Given the description of an element on the screen output the (x, y) to click on. 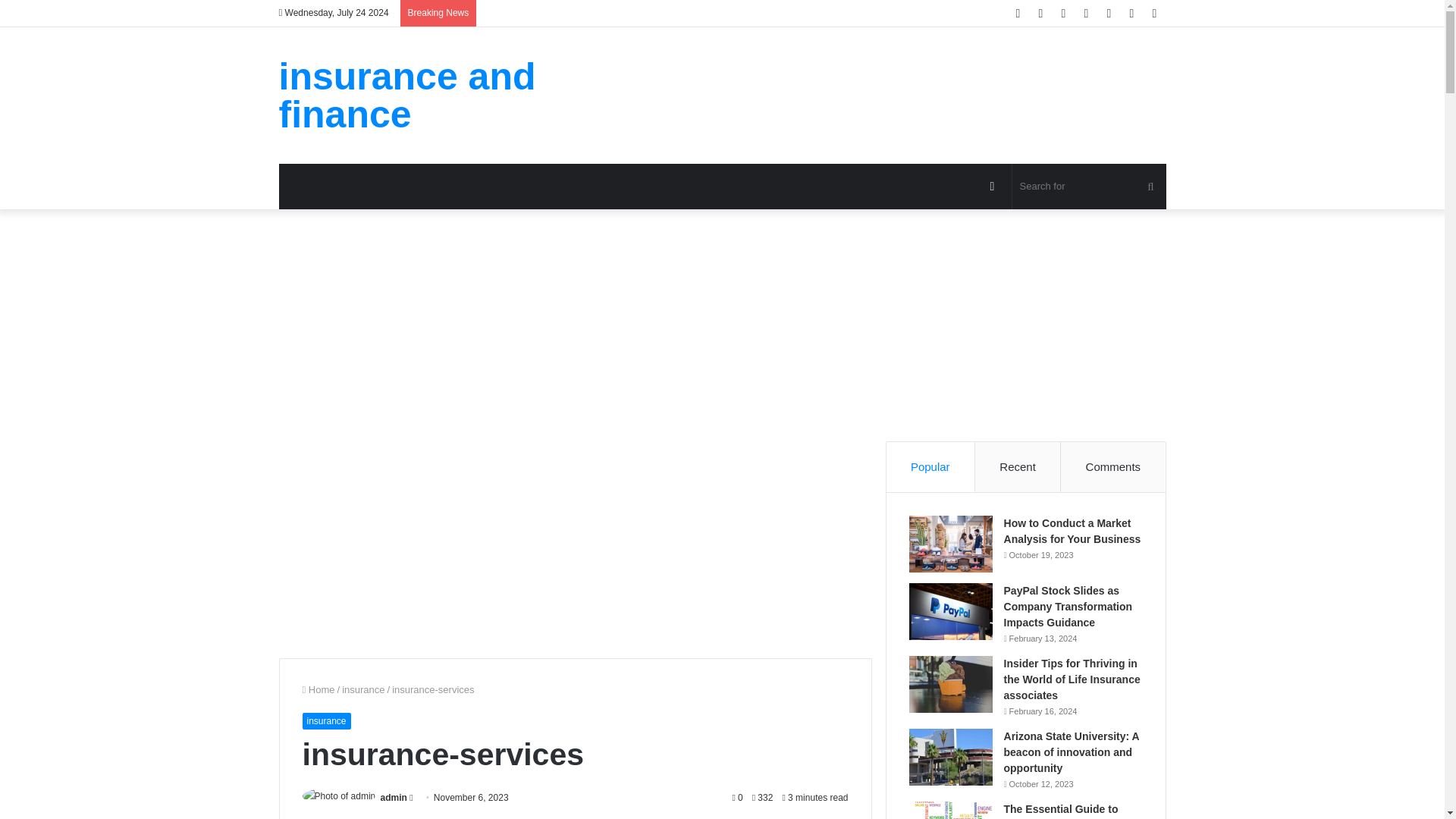
insurance and finance (419, 95)
admin (393, 797)
Advertisement (836, 319)
Advertisement (873, 76)
Random Article (1131, 13)
Search for (1088, 186)
Random Article (1131, 13)
insurance (325, 720)
Advertisement (459, 535)
Random Article (992, 186)
Random Article (992, 186)
Search for (1150, 186)
Advertisement (1066, 319)
Advertisement (689, 535)
